Given the description of an element on the screen output the (x, y) to click on. 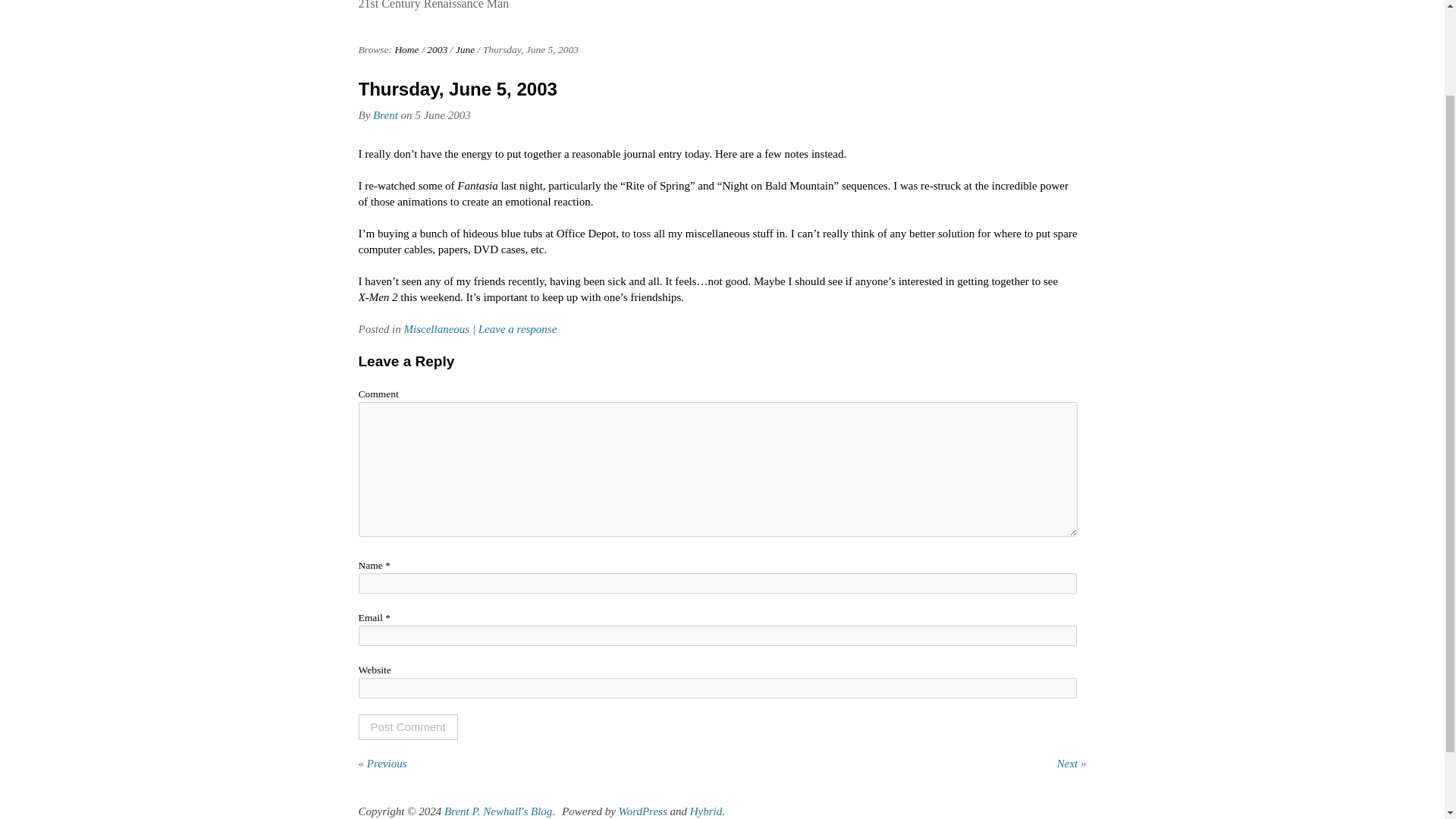
State-of-the-art semantic personal publishing platform (642, 811)
Post Comment (407, 727)
Home (406, 49)
Brent P. Newhall's Blog (497, 811)
Hybrid (706, 811)
Brent (384, 114)
Brent (384, 114)
2003 (436, 49)
Hybrid WordPress Theme (706, 811)
June 2003 (464, 49)
